Given the description of an element on the screen output the (x, y) to click on. 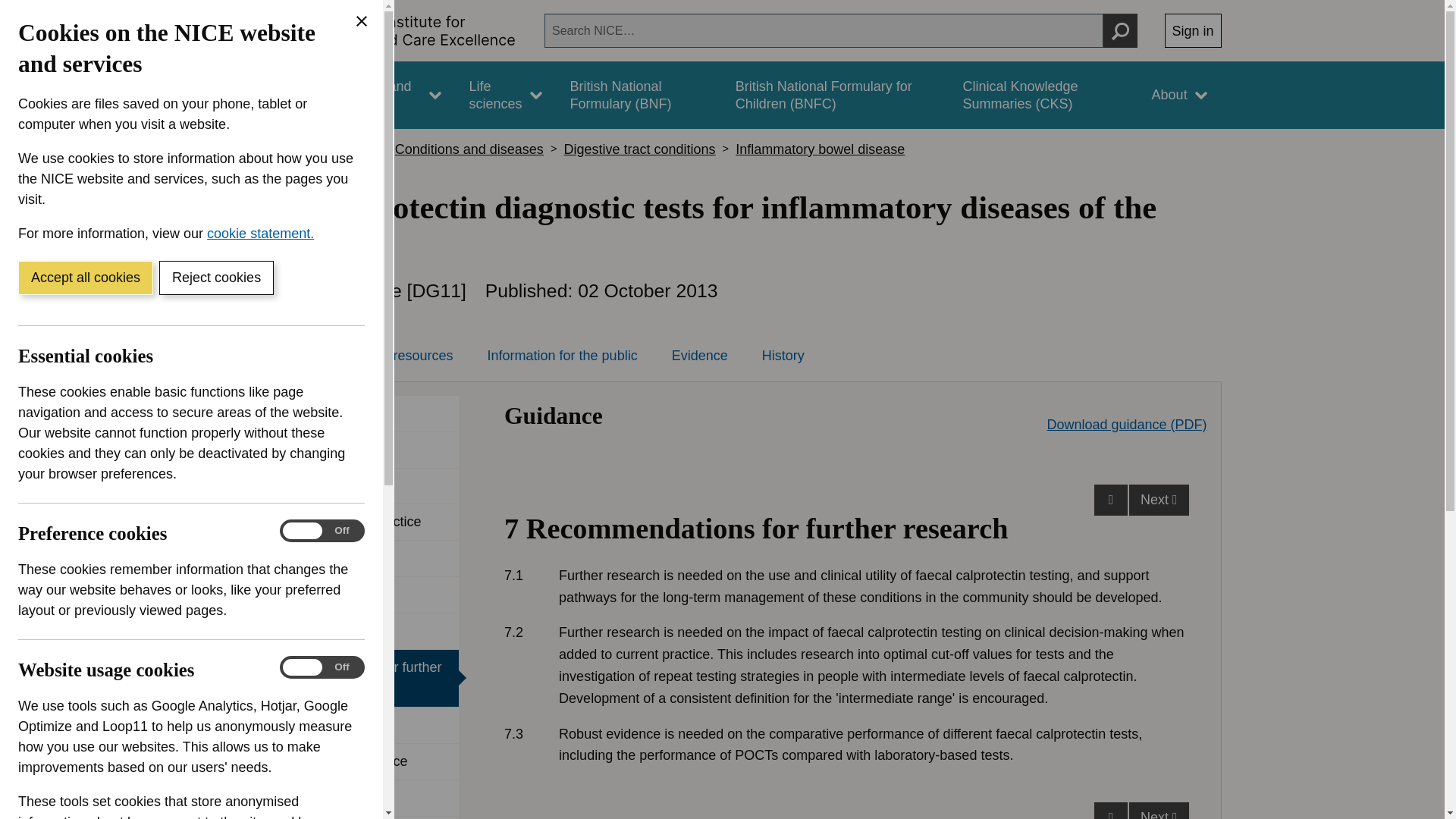
Standards and indicators (381, 94)
Guidance (265, 94)
Sign in (1192, 30)
Accept all cookies (84, 277)
Life sciences (505, 94)
Reject cookies (215, 277)
